Given the description of an element on the screen output the (x, y) to click on. 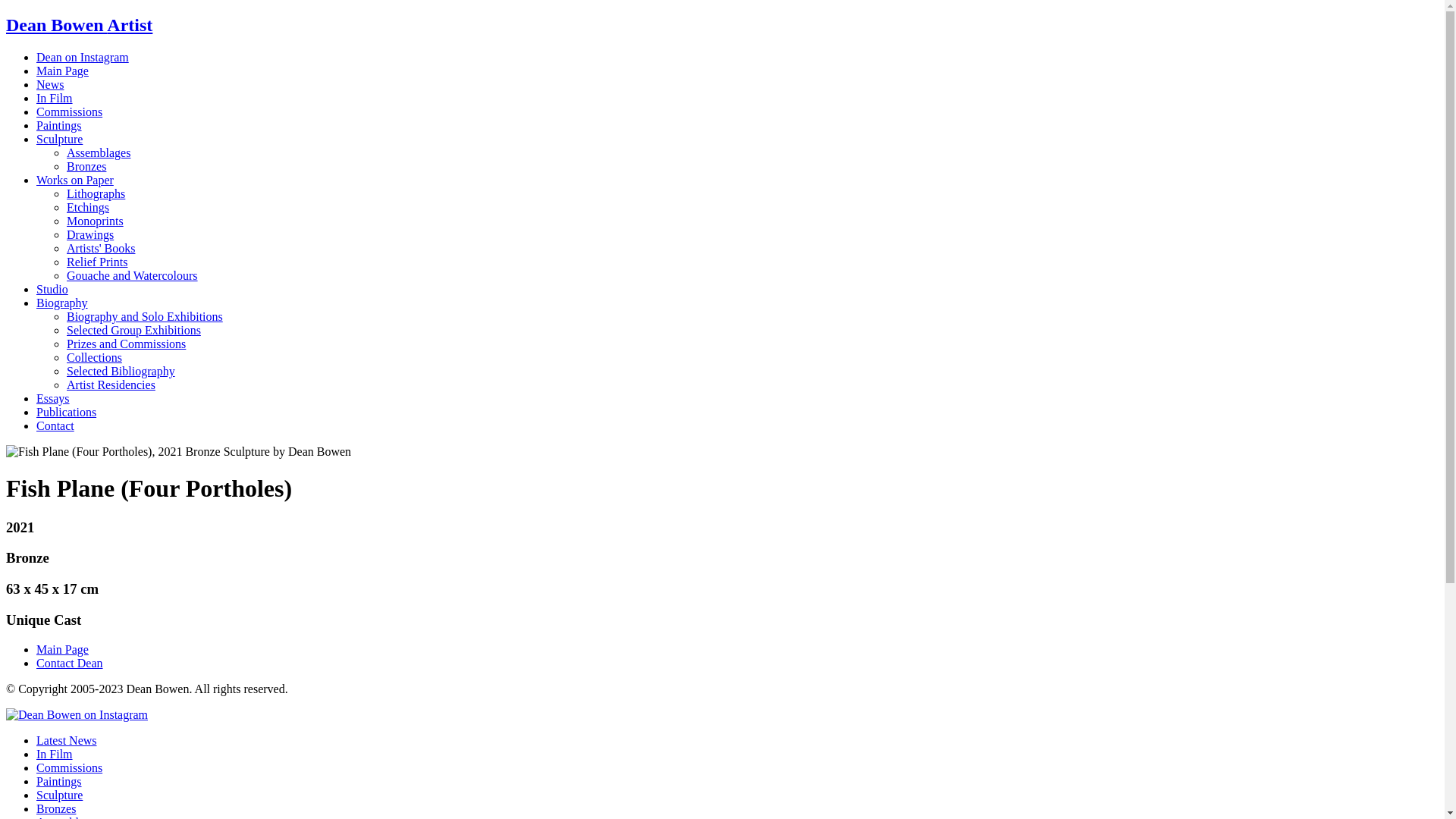
Sculpture Element type: text (59, 138)
Contact Dean Element type: text (69, 662)
Essays Element type: text (52, 398)
Drawings Element type: text (89, 234)
Dean on Instagram Element type: text (82, 56)
Selected Group Exhibitions Element type: text (133, 329)
Works on Paper Element type: text (74, 179)
Assemblages Element type: text (98, 152)
Bronzes Element type: text (55, 808)
Selected Bibliography Element type: text (120, 370)
Artist Residencies Element type: text (110, 384)
Commissions Element type: text (69, 111)
Paintings Element type: text (58, 781)
Paintings Element type: text (58, 125)
Collections Element type: text (94, 357)
Biography Element type: text (61, 302)
Dean Bowen Artist Element type: text (79, 24)
Main Page Element type: text (62, 70)
Relief Prints Element type: text (96, 261)
Dean Bowen on Instagram Element type: hover (76, 714)
Monoprints Element type: text (94, 220)
Lithographs Element type: text (95, 193)
Bronzes Element type: text (86, 166)
Publications Element type: text (66, 411)
Sculpture Element type: text (59, 794)
Main Page Element type: text (62, 649)
News Element type: text (49, 84)
Commissions Element type: text (69, 767)
Artists' Books Element type: text (100, 247)
Etchings Element type: text (87, 206)
Biography and Solo Exhibitions Element type: text (144, 316)
In Film Element type: text (54, 753)
Latest News Element type: text (66, 740)
Contact Element type: text (55, 425)
Prizes and Commissions Element type: text (125, 343)
Studio Element type: text (52, 288)
Gouache and Watercolours Element type: text (131, 275)
In Film Element type: text (54, 97)
